Given the description of an element on the screen output the (x, y) to click on. 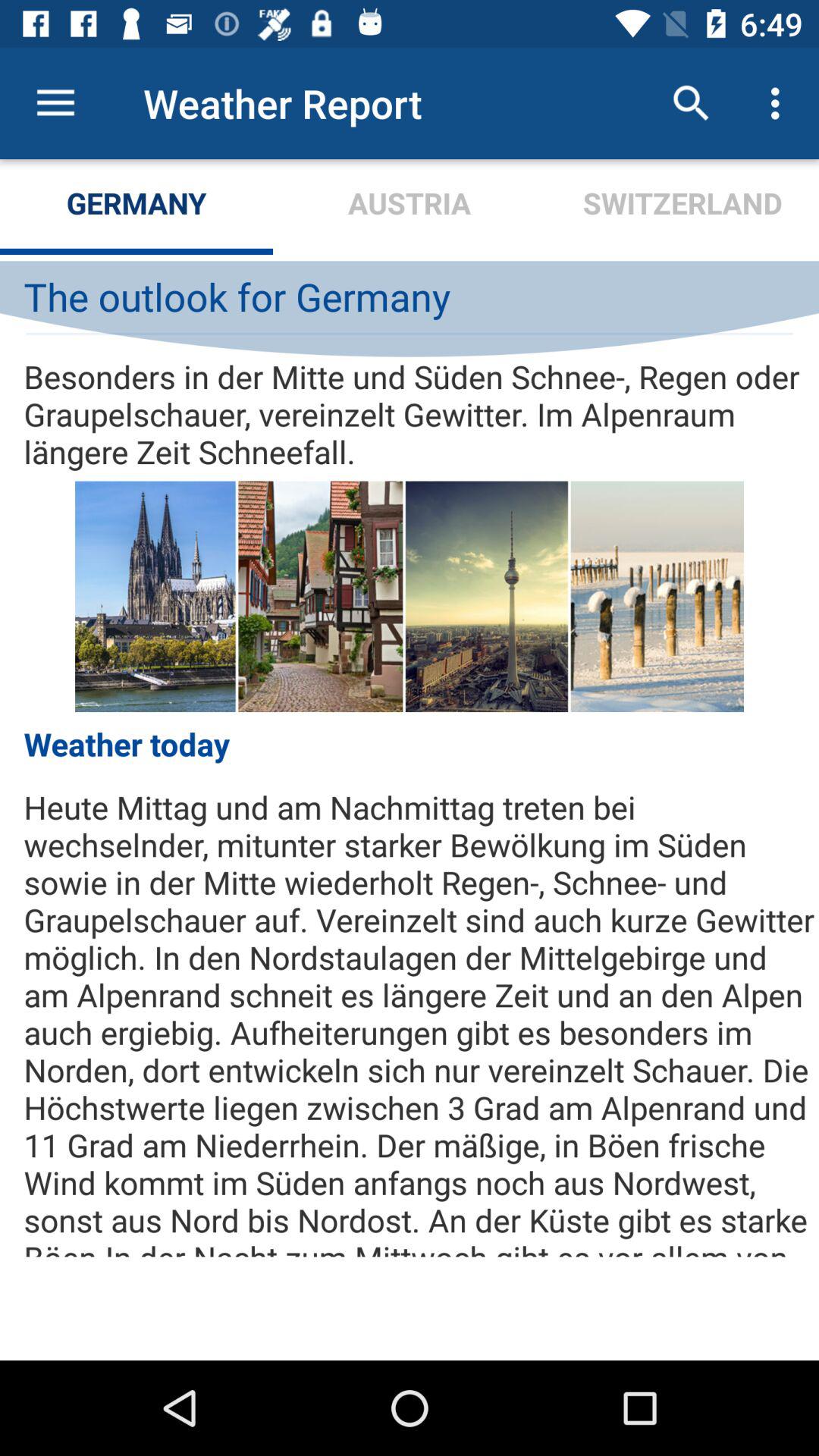
press the item above the switzerland item (779, 103)
